Given the description of an element on the screen output the (x, y) to click on. 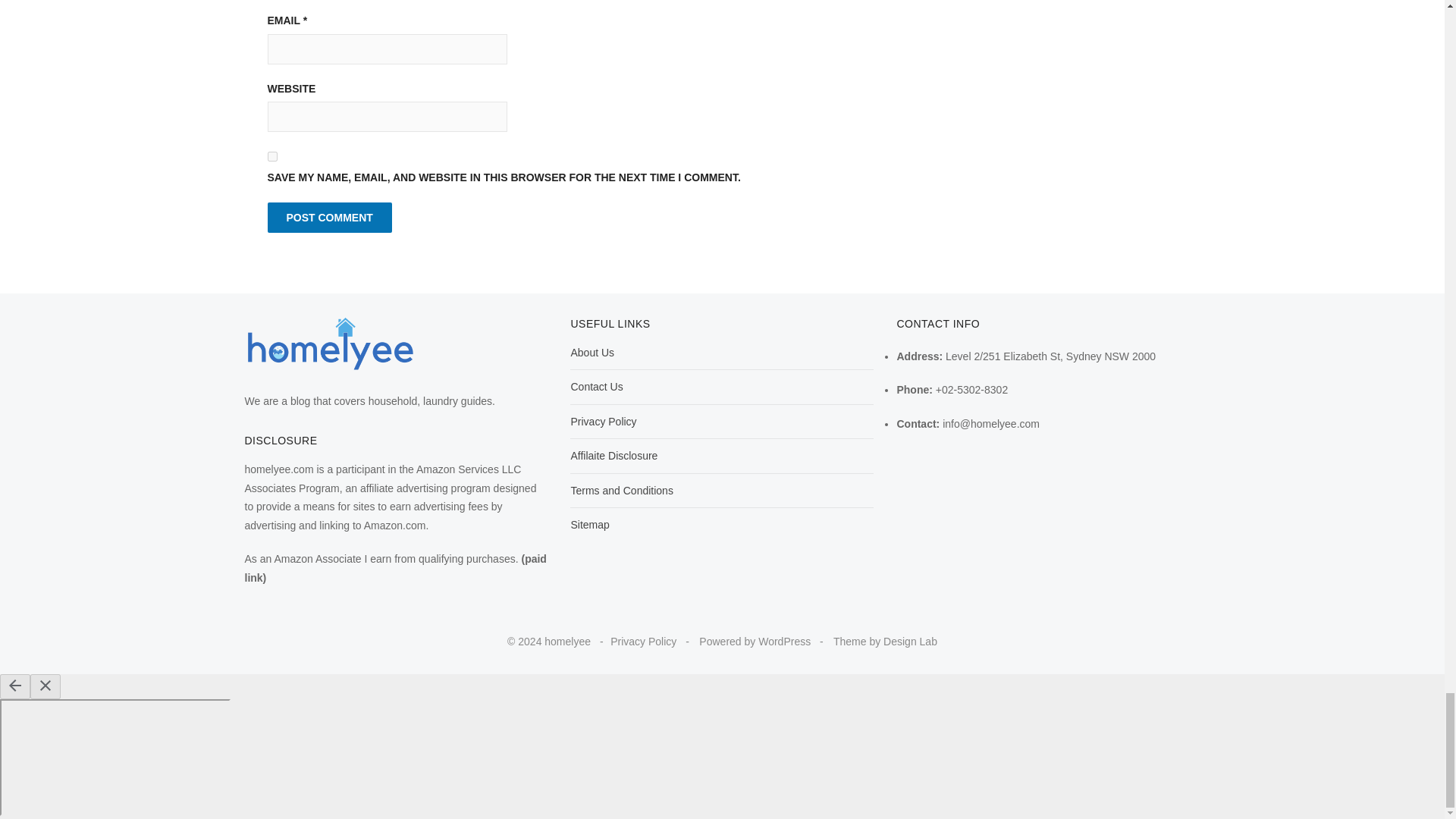
Post Comment (328, 217)
yes (271, 156)
Post Comment (328, 217)
